Given the description of an element on the screen output the (x, y) to click on. 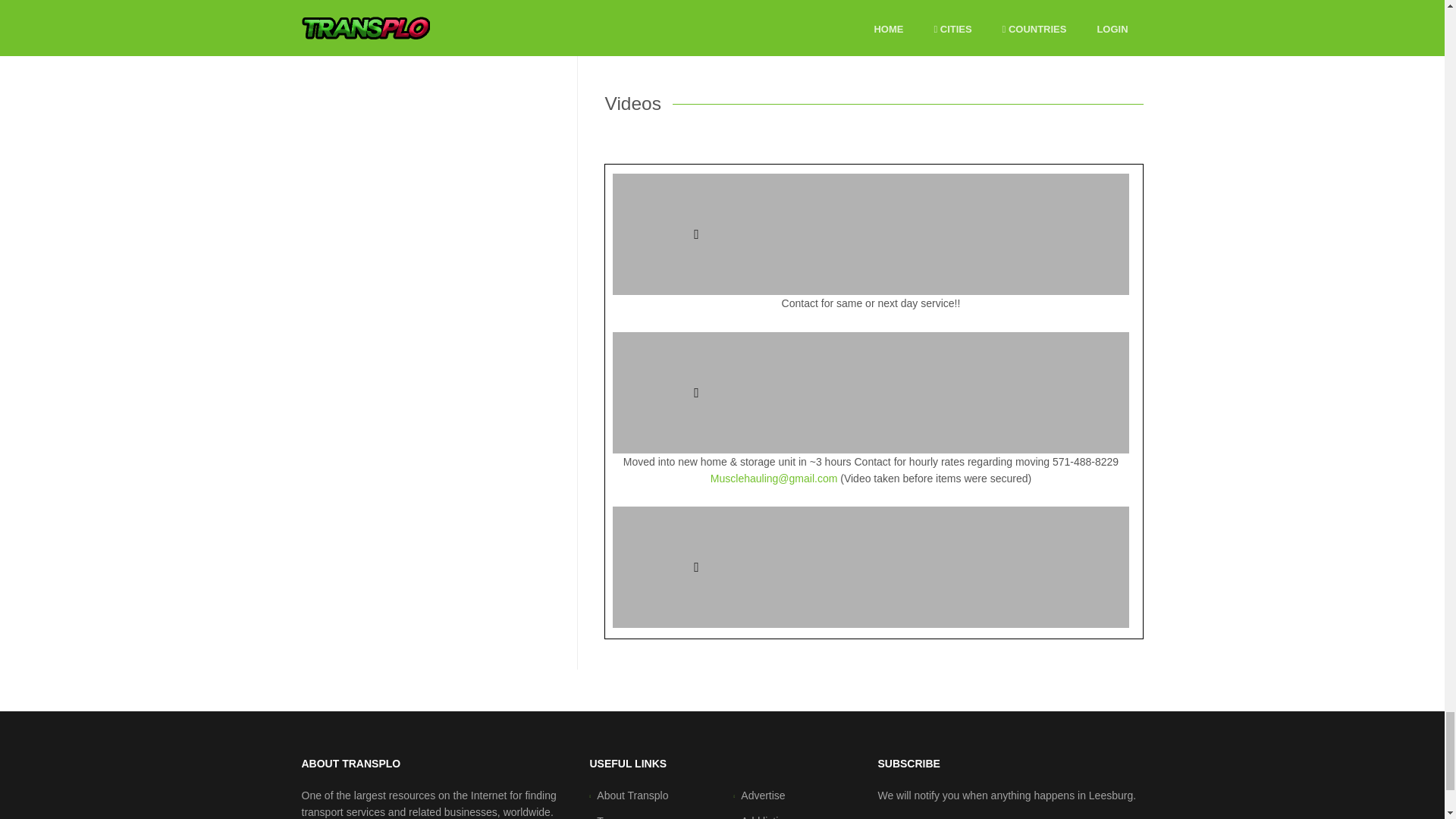
Submit (645, 3)
About Transplo (632, 795)
Submit (645, 3)
